Given the description of an element on the screen output the (x, y) to click on. 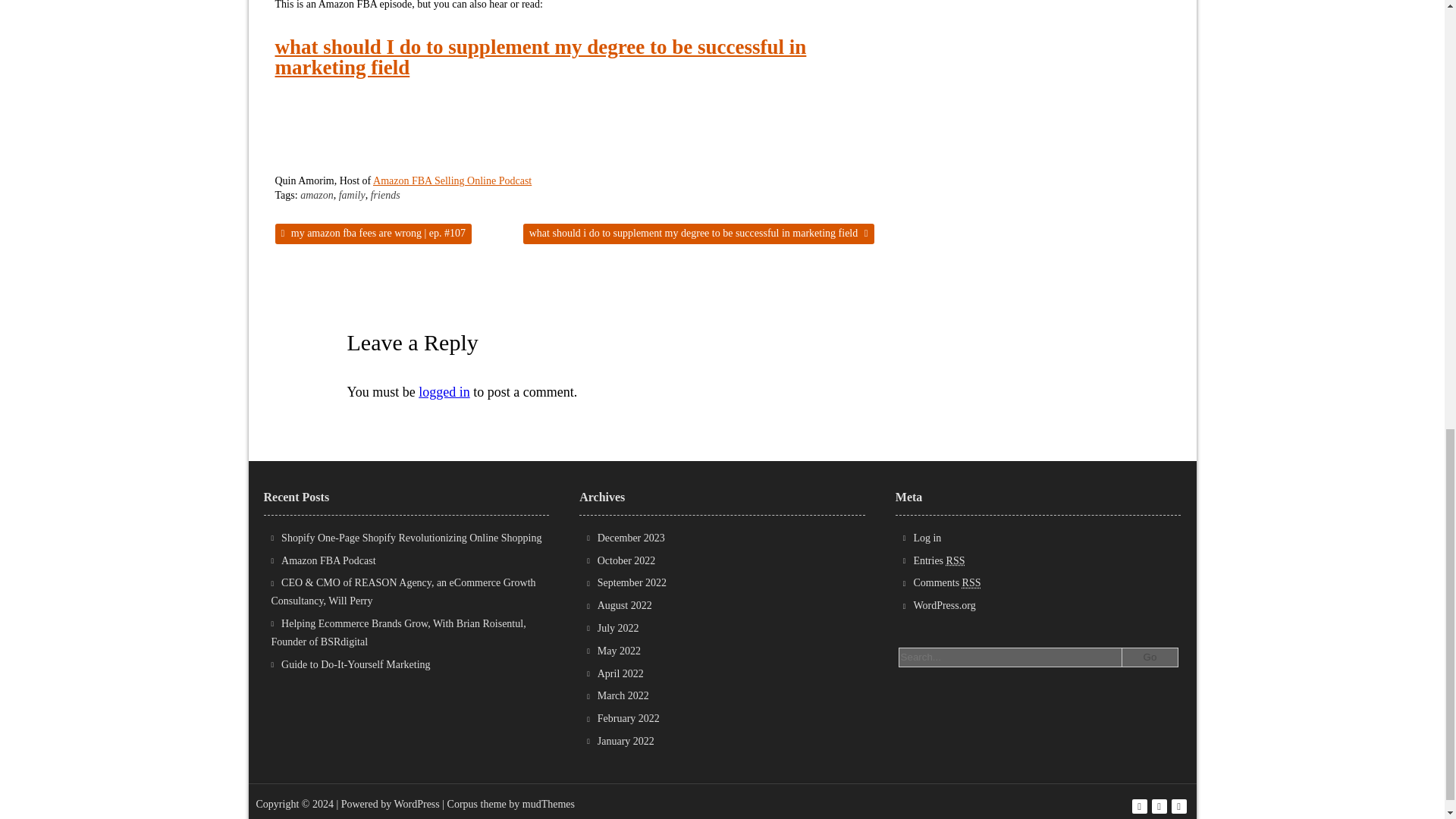
December 2023 (630, 537)
Linkedin (1178, 806)
Really Simple Syndication (971, 582)
Twitter (1158, 806)
friends (385, 195)
Go (1148, 657)
Amazon FBA Selling Online Podcast (451, 180)
Facebook (1139, 806)
